Given the description of an element on the screen output the (x, y) to click on. 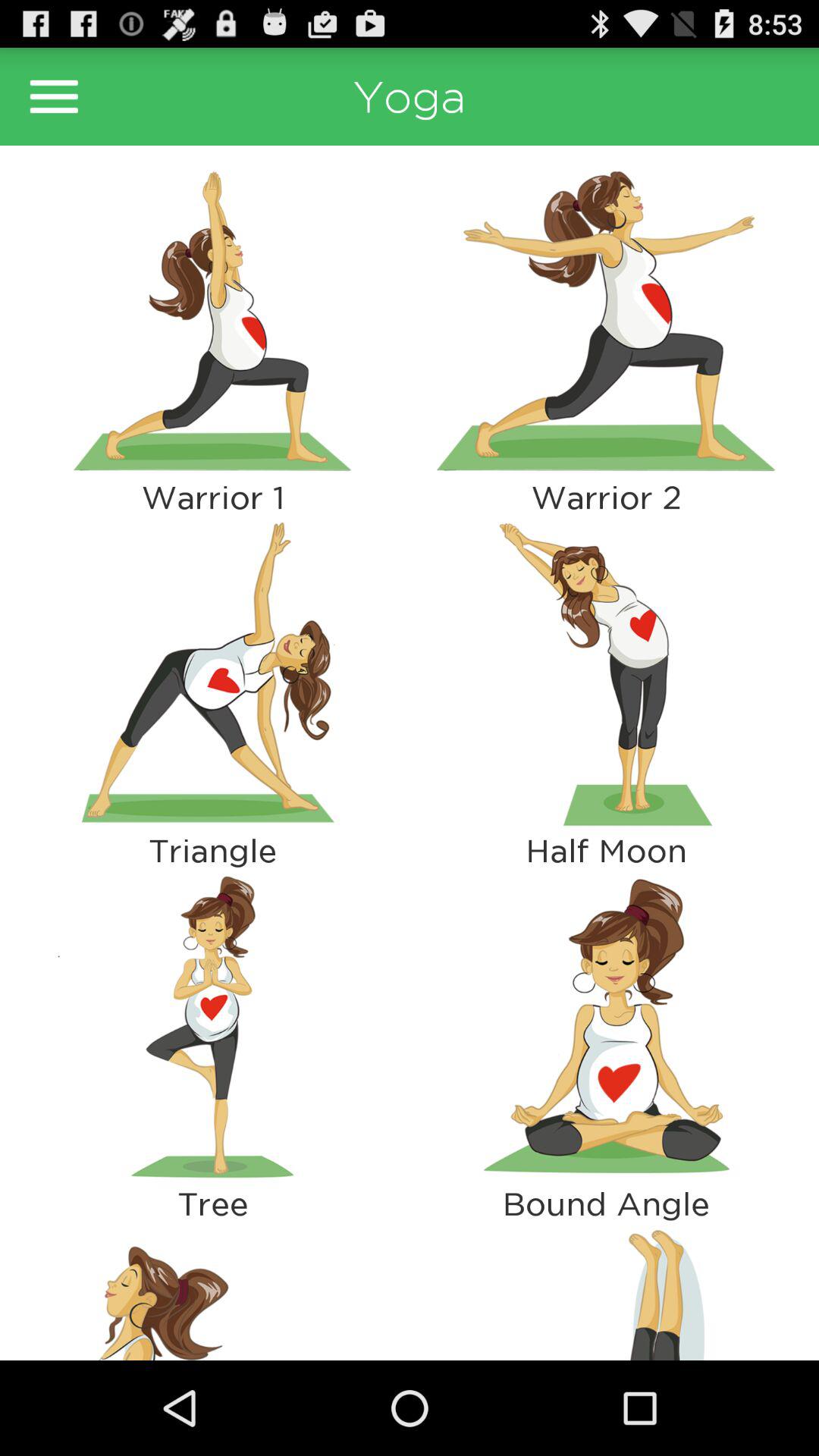
select bound angle pose (606, 1026)
